Given the description of an element on the screen output the (x, y) to click on. 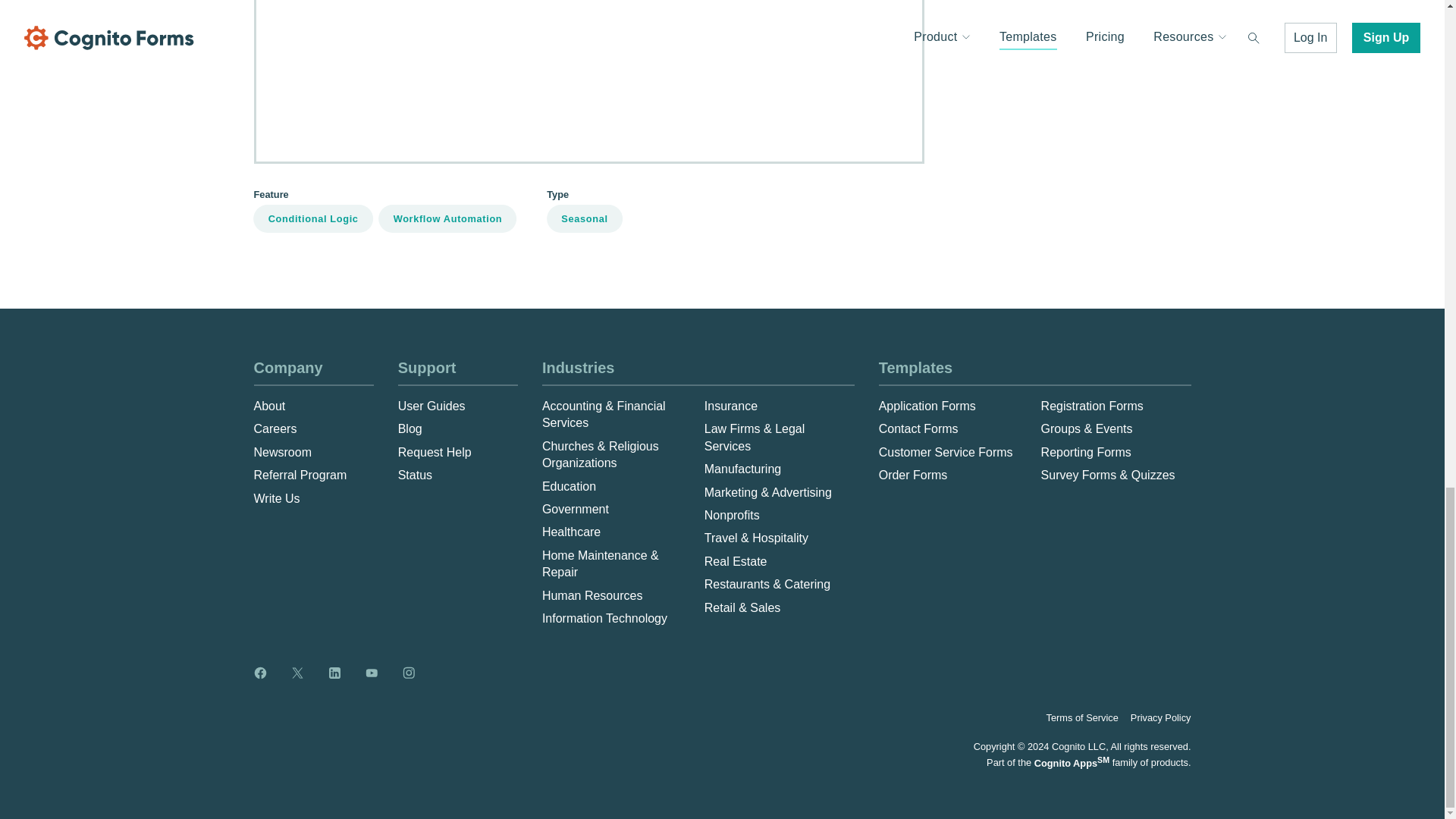
Pool Party Invitation (1007, 9)
Halloween Party RSVP (588, 80)
Sponsorship Form Template with Auto-Generated Invoice (1106, 88)
Prescription Refill Request (1024, 35)
Advanced Scholarship Application (1044, 62)
